Given the description of an element on the screen output the (x, y) to click on. 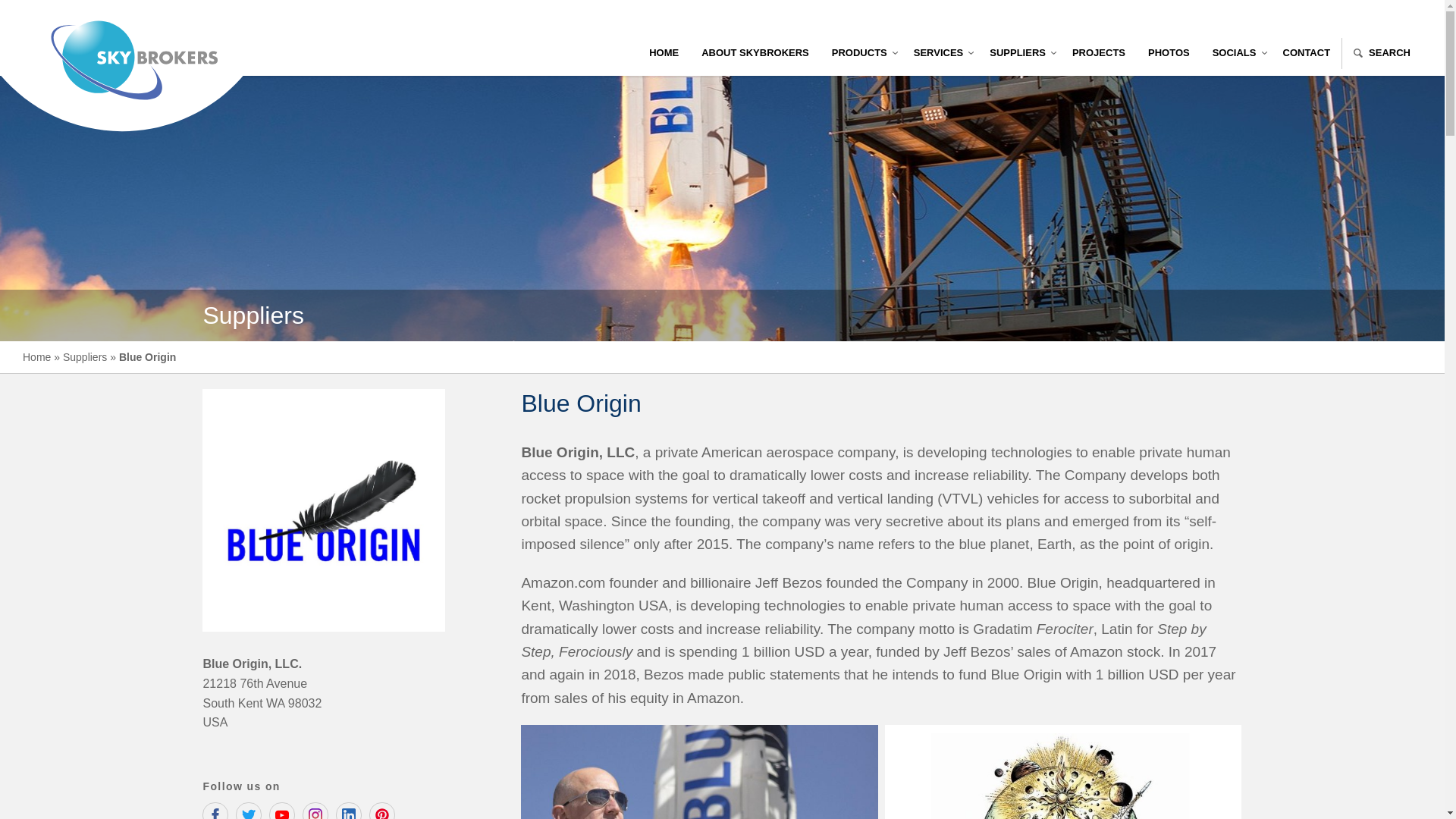
PRODUCTS (861, 52)
HOME (663, 52)
Follow Skybrokers on Youtube (282, 810)
Follow Skybrokers on Pinterest (381, 810)
Follow Skybrokers on Facebook (215, 810)
ABOUT SKYBROKERS (755, 52)
Follow Skybrokers on Linkedin (348, 810)
Follow Skybrokers on Twitter (248, 810)
Follow Skybrokers on Instagram (315, 810)
